Given the description of an element on the screen output the (x, y) to click on. 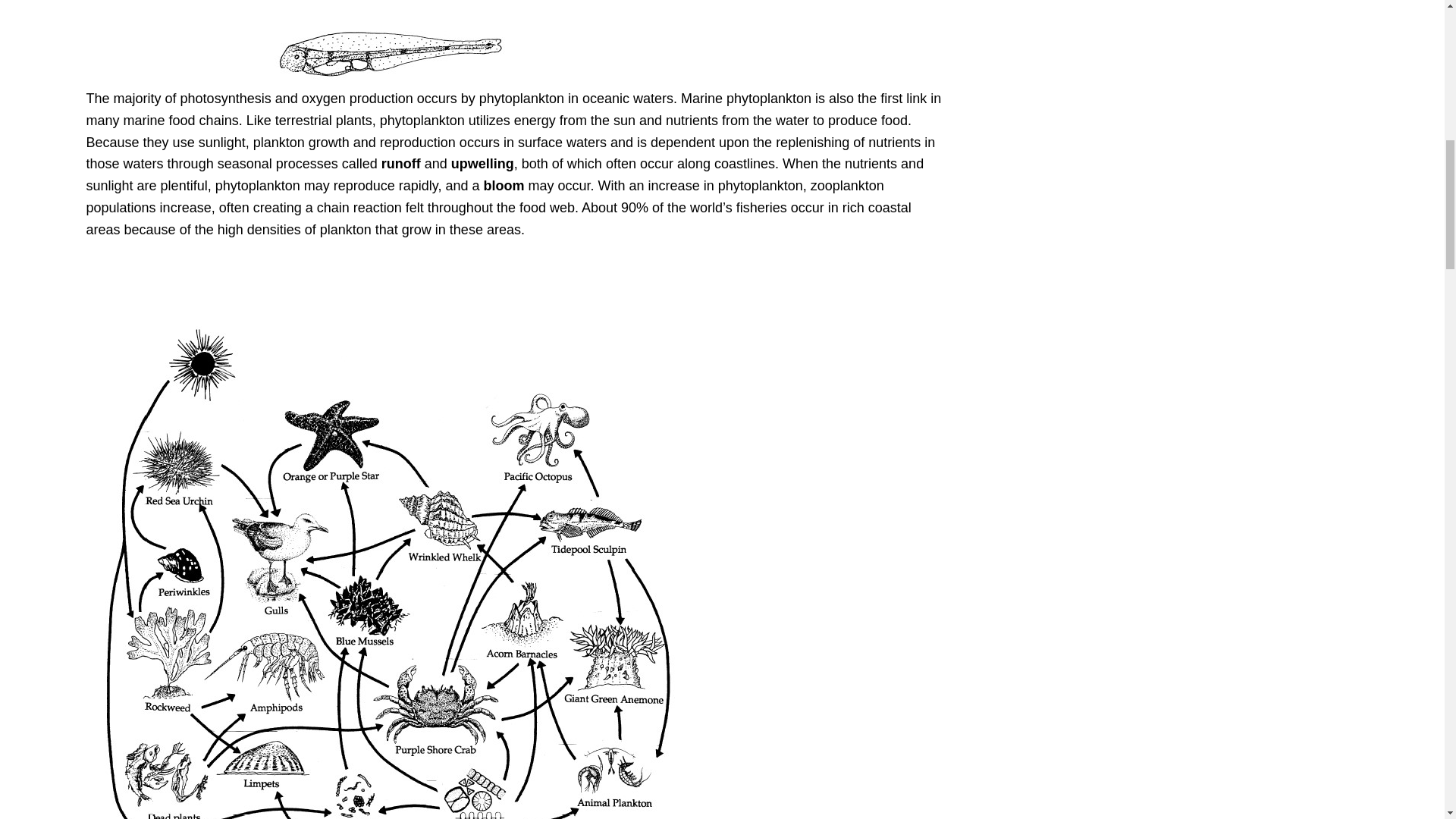
Different types of plankton. (301, 43)
